Given the description of an element on the screen output the (x, y) to click on. 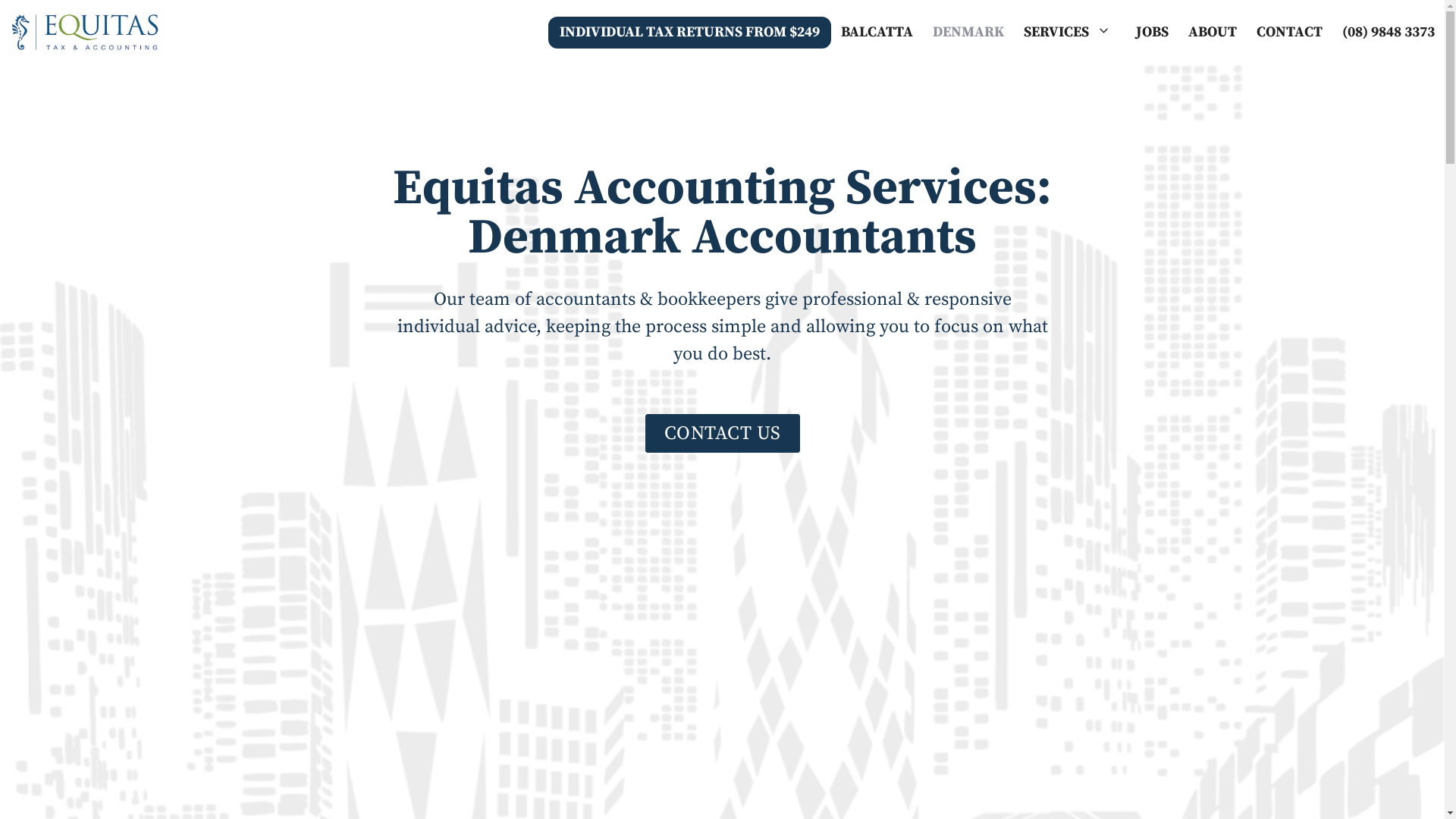
INDIVIDUAL TAX RETURNS FROM $249 Element type: text (689, 32)
DENMARK Element type: text (967, 32)
Equitas Accounting Element type: hover (86, 32)
CONTACT US Element type: text (721, 433)
(08) 9848 3373 Element type: text (1388, 32)
SERVICES Element type: text (1069, 32)
CONTACT Element type: text (1289, 32)
BALCATTA Element type: text (876, 32)
JOBS Element type: text (1152, 32)
ABOUT Element type: text (1212, 32)
